Given the description of an element on the screen output the (x, y) to click on. 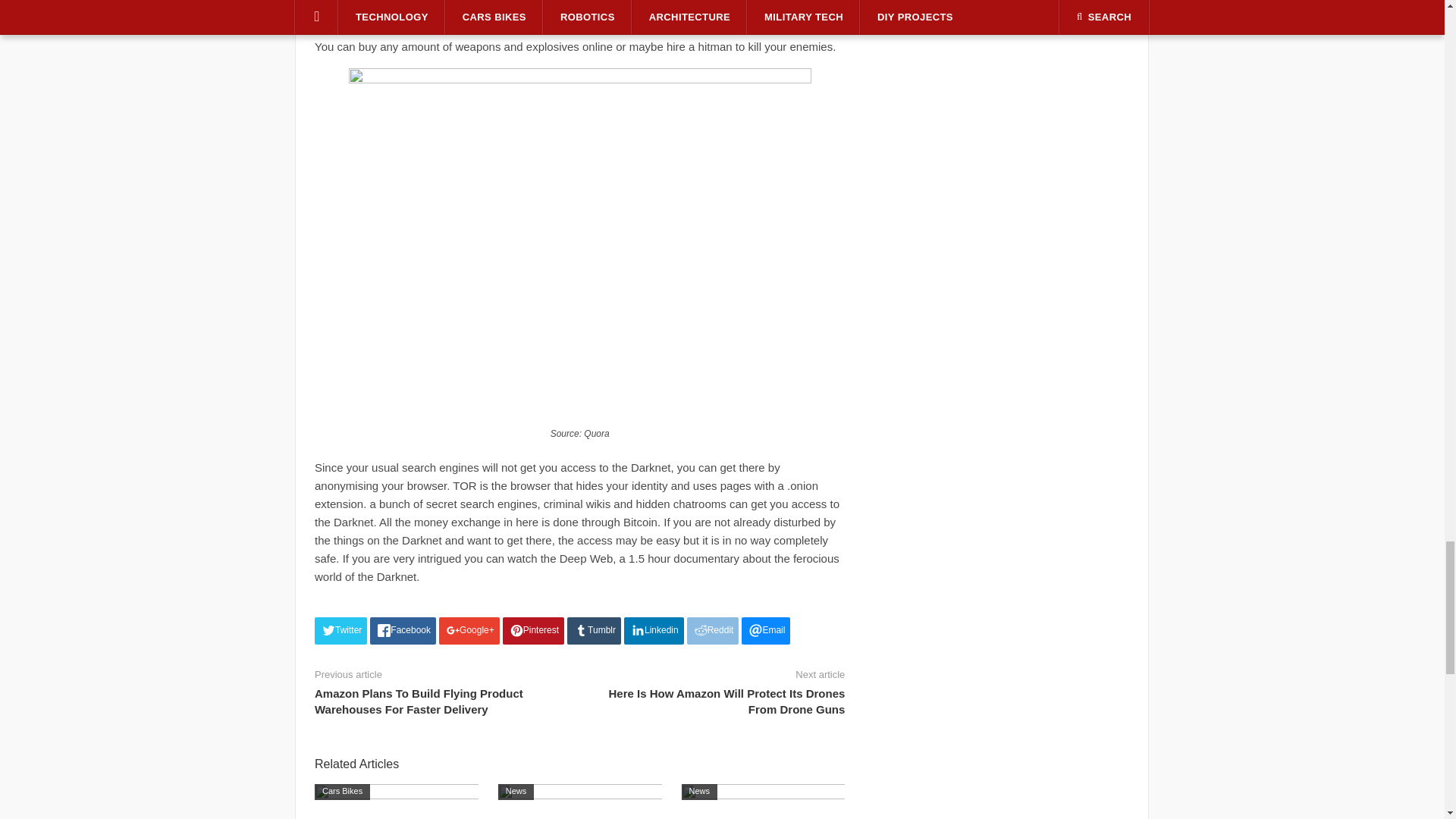
Facebook (402, 630)
Linkedin (654, 630)
Tumblr (594, 630)
Here Is How Amazon Will Protect Its Drones From Drone Guns (726, 701)
Twitter (340, 630)
Reddit (713, 630)
Email (765, 630)
Pinterest (533, 630)
